Given the description of an element on the screen output the (x, y) to click on. 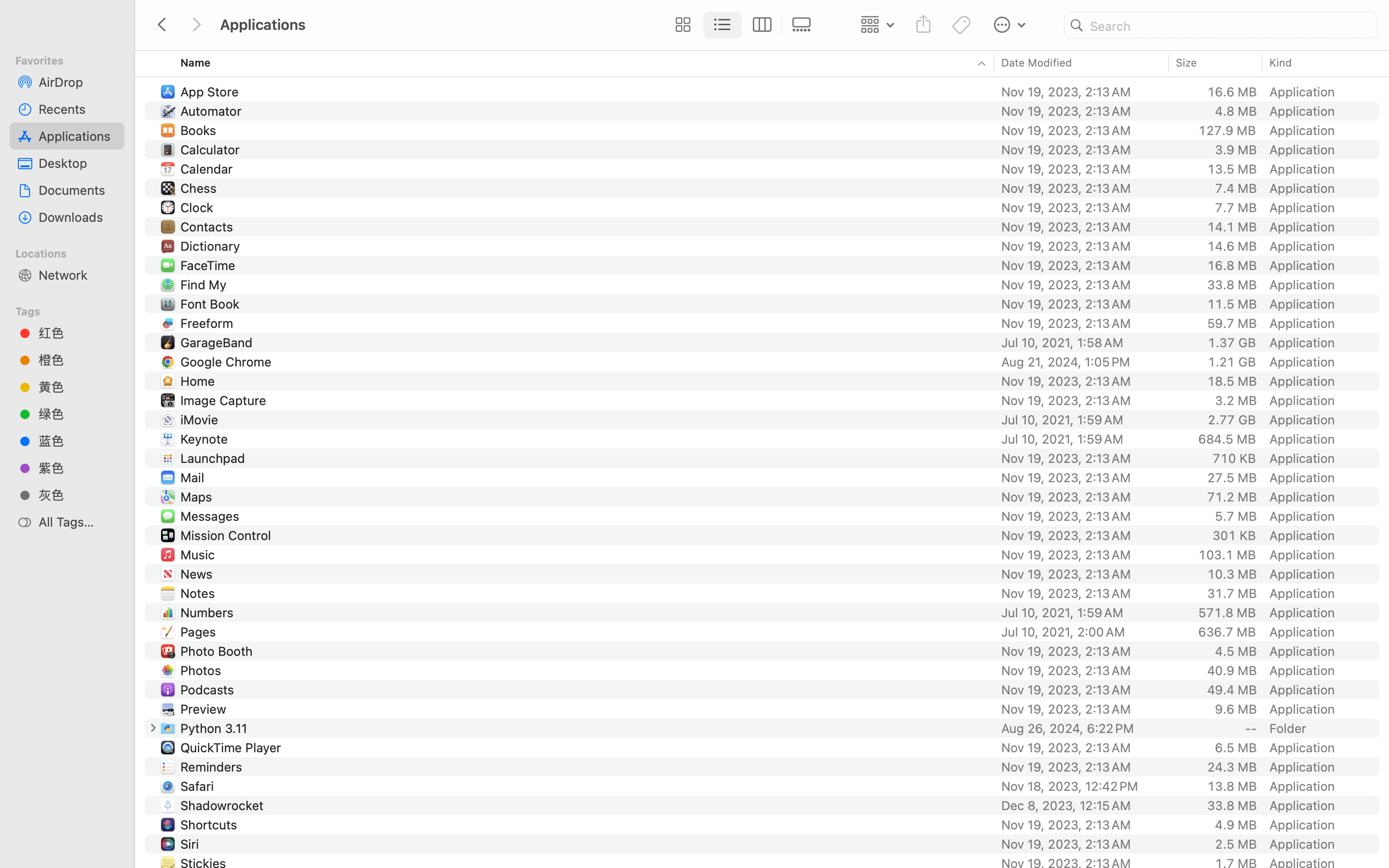
4.9 MB Element type: AXStaticText (1235, 824)
Aug 26, 2024, 6:22 PM Element type: AXStaticText (1081, 727)
49.4 MB Element type: AXStaticText (1231, 689)
Photos Element type: AXTextField (202, 670)
App Store Element type: AXTextField (211, 91)
